Given the description of an element on the screen output the (x, y) to click on. 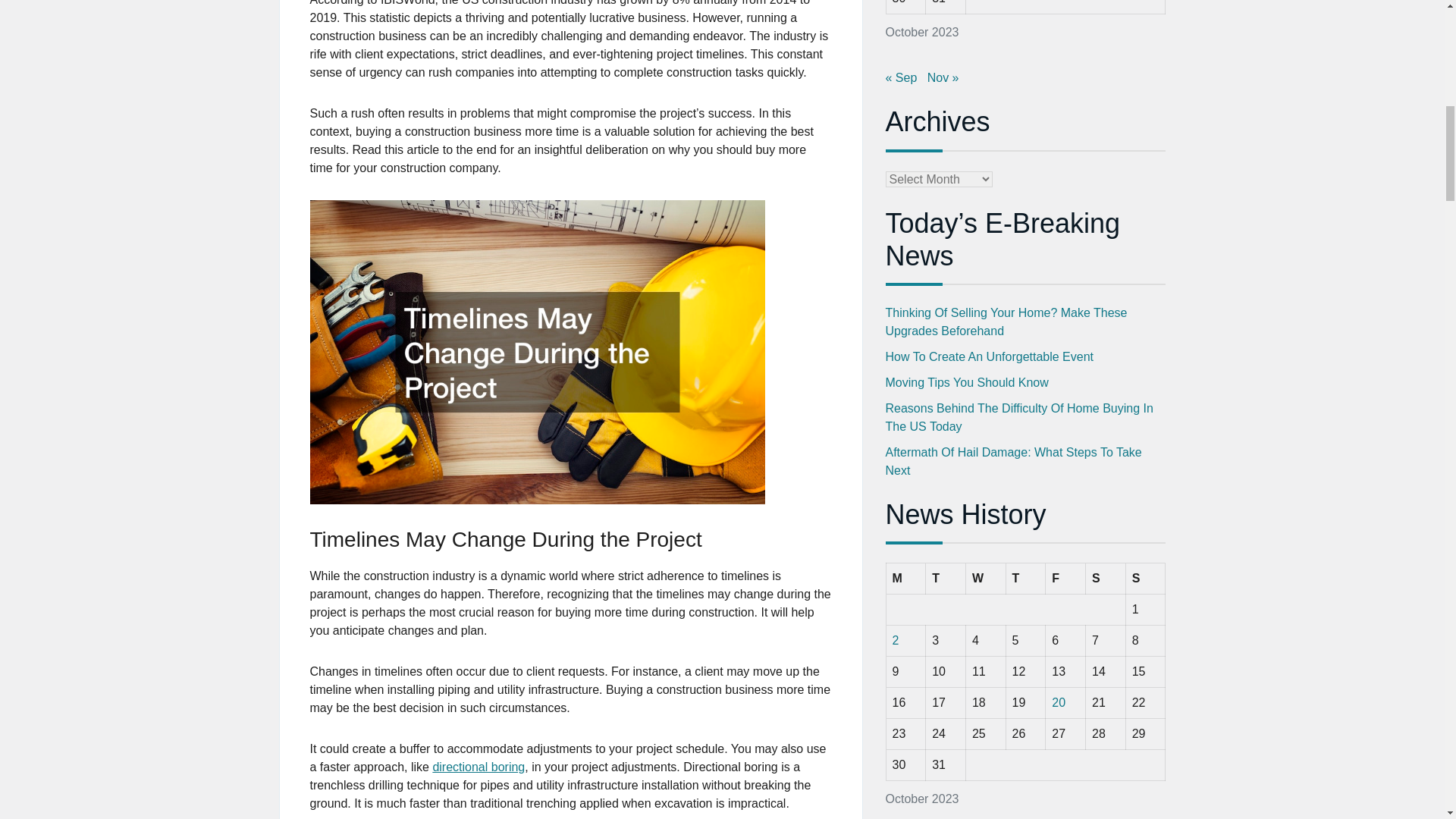
Tuesday (946, 578)
Moving Tips You Should Know (966, 382)
Wednesday (985, 578)
directional boring (478, 766)
Reasons Behind The Difficulty Of Home Buying In The US Today (1019, 417)
Saturday (1105, 578)
How To Create An Unforgettable Event (989, 356)
Friday (1065, 578)
Thursday (1025, 578)
Monday (905, 578)
